Given the description of an element on the screen output the (x, y) to click on. 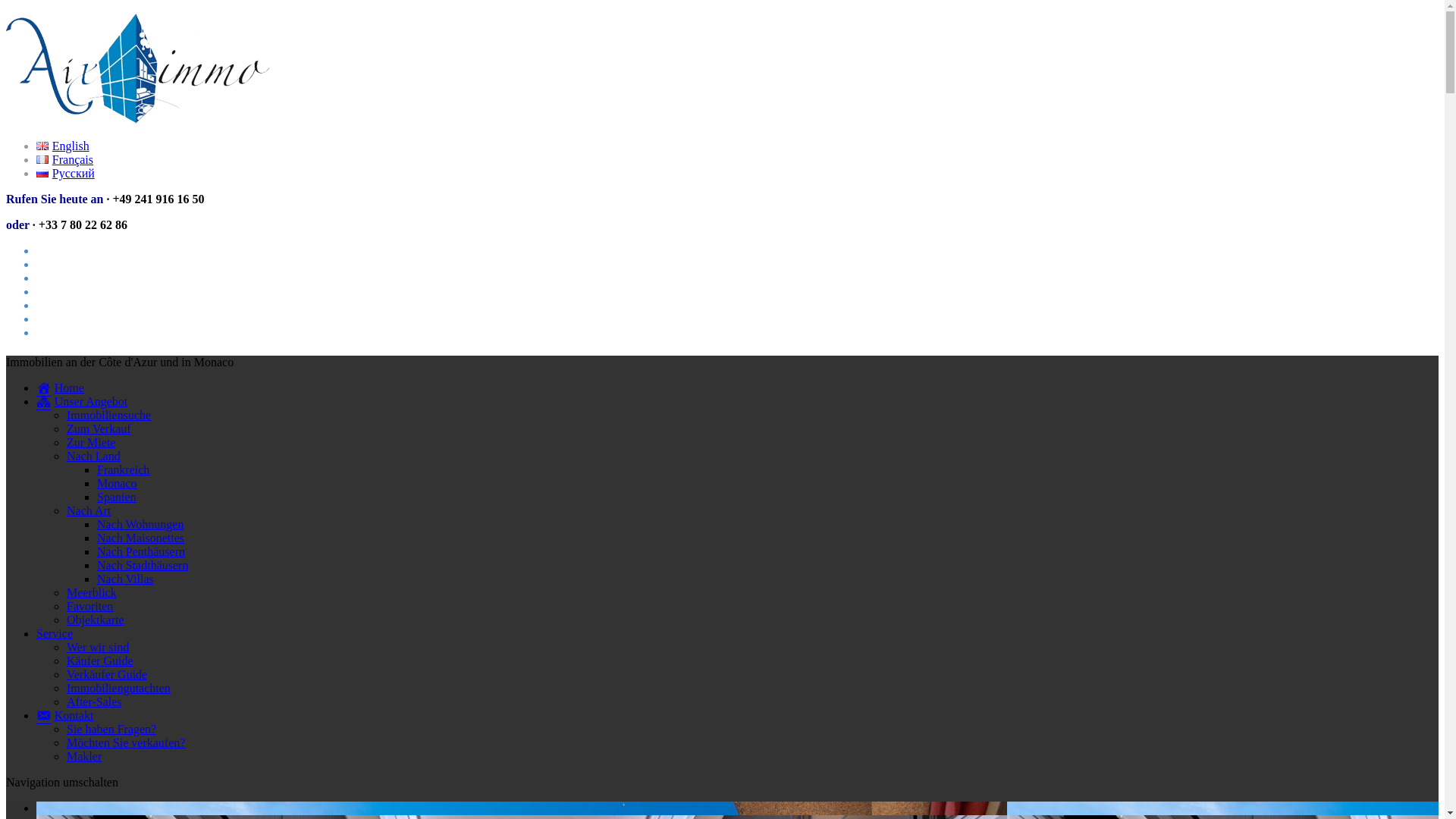
Spanien Element type: text (116, 496)
Wer wir sind Element type: text (97, 646)
Monaco Element type: text (116, 482)
Sie haben Fragen? Element type: text (111, 728)
Nach Maisonettes Element type: text (140, 537)
Meerblick Element type: text (91, 592)
Nach Wohnungen Element type: text (140, 523)
Home Element type: text (60, 387)
Frankreich Element type: text (123, 469)
After-Sales Element type: text (94, 701)
Makler Element type: text (83, 755)
Kontakt Element type: text (64, 715)
Zum Verkauf Element type: text (98, 428)
Unser Angebot Element type: text (81, 401)
Immobiliensuche Element type: text (108, 414)
Nach Art Element type: text (88, 510)
Objektkarte Element type: text (95, 619)
Service Element type: text (54, 633)
Nach Land Element type: text (93, 455)
Nach Villas Element type: text (125, 578)
Zur Miete Element type: text (90, 442)
English Element type: text (62, 145)
Immobiliengutachten Element type: text (118, 687)
Favoriten Element type: text (89, 605)
